Given the description of an element on the screen output the (x, y) to click on. 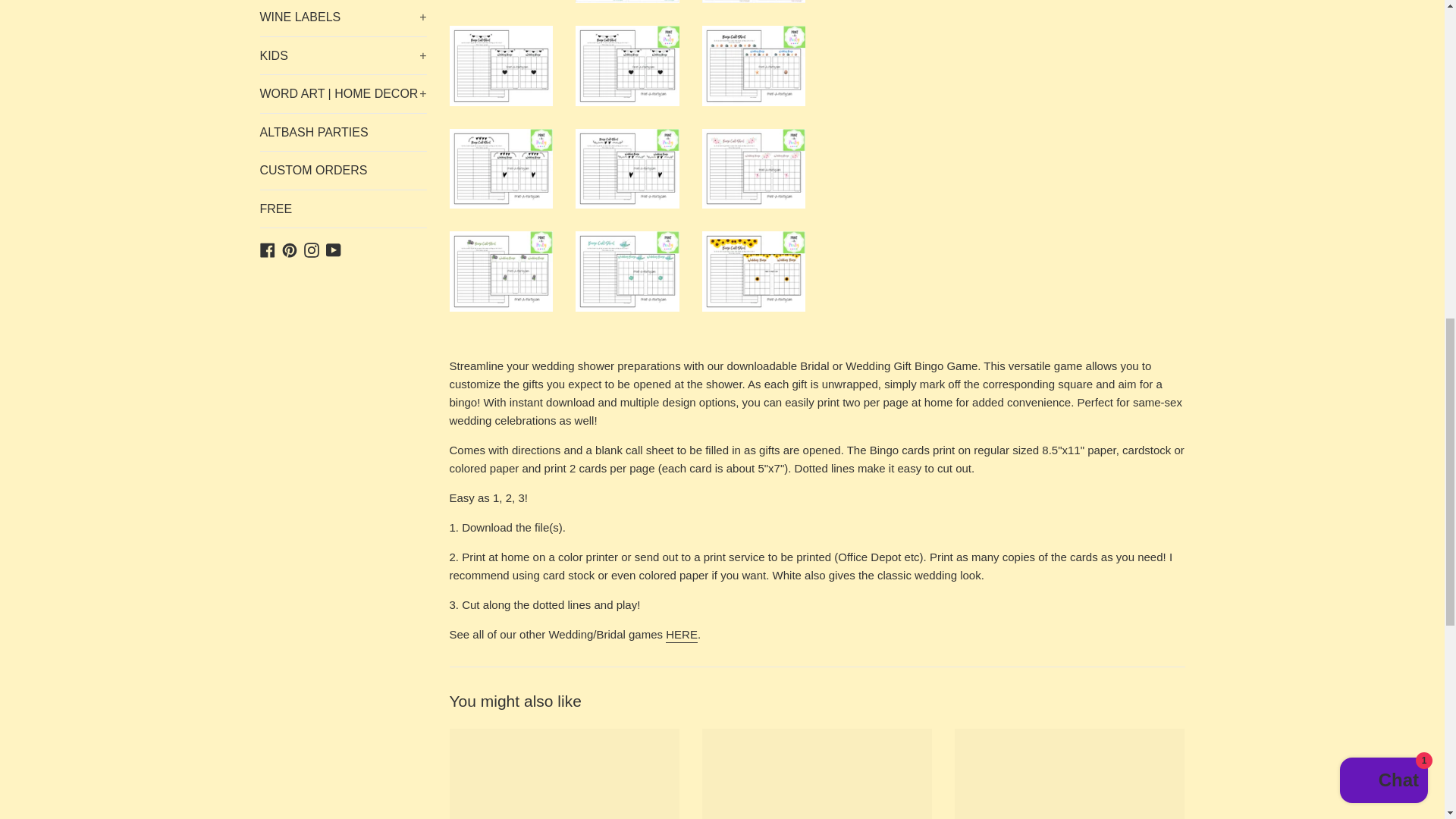
PrintAParty on Instagram (311, 247)
PrintAParty on YouTube (333, 247)
PrintAParty on Facebook (267, 247)
PrintAParty on Pinterest (289, 247)
